Given the description of an element on the screen output the (x, y) to click on. 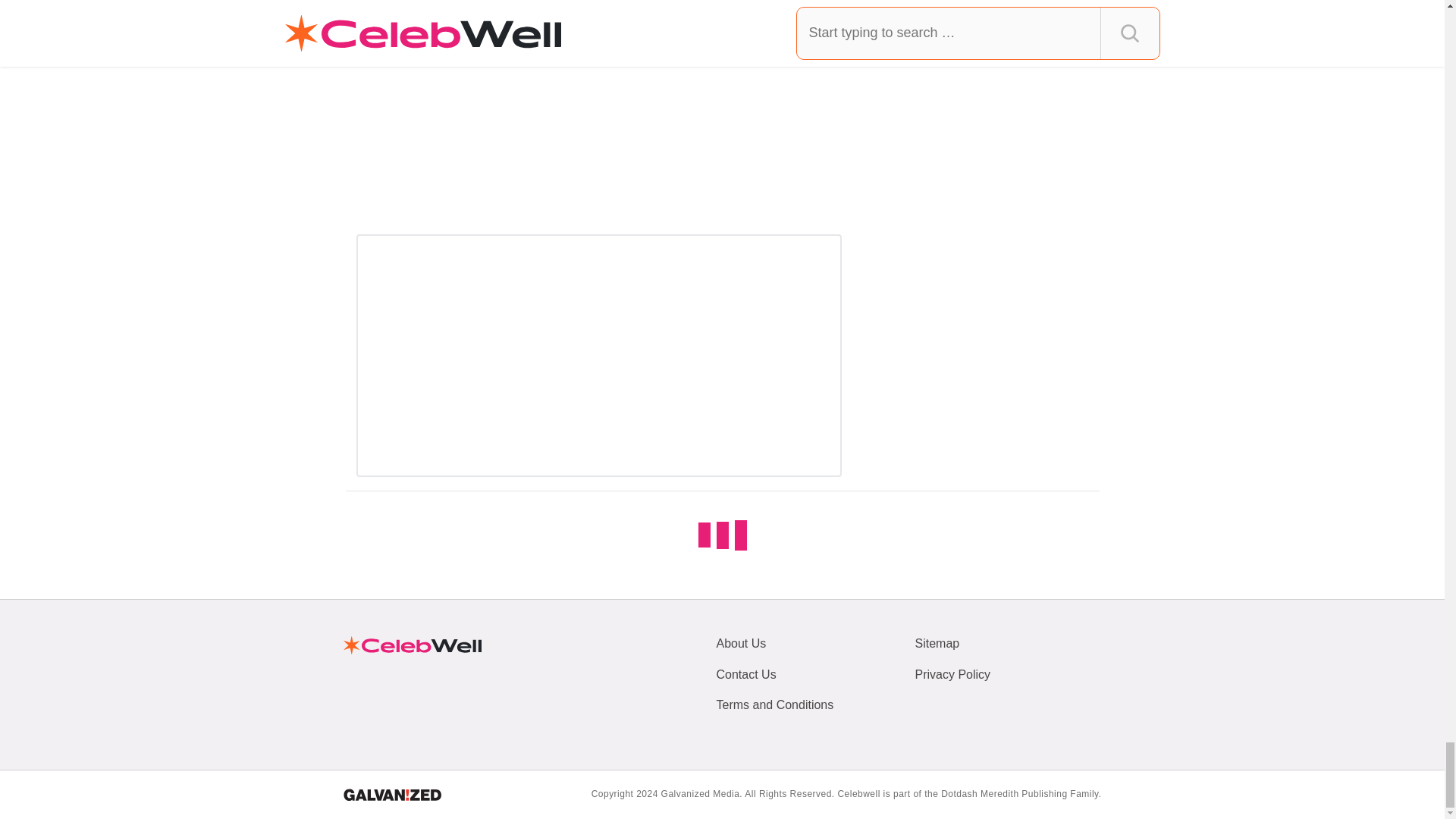
Galvanized Media Logo (391, 794)
Homepage of Celebwell (411, 644)
